Given the description of an element on the screen output the (x, y) to click on. 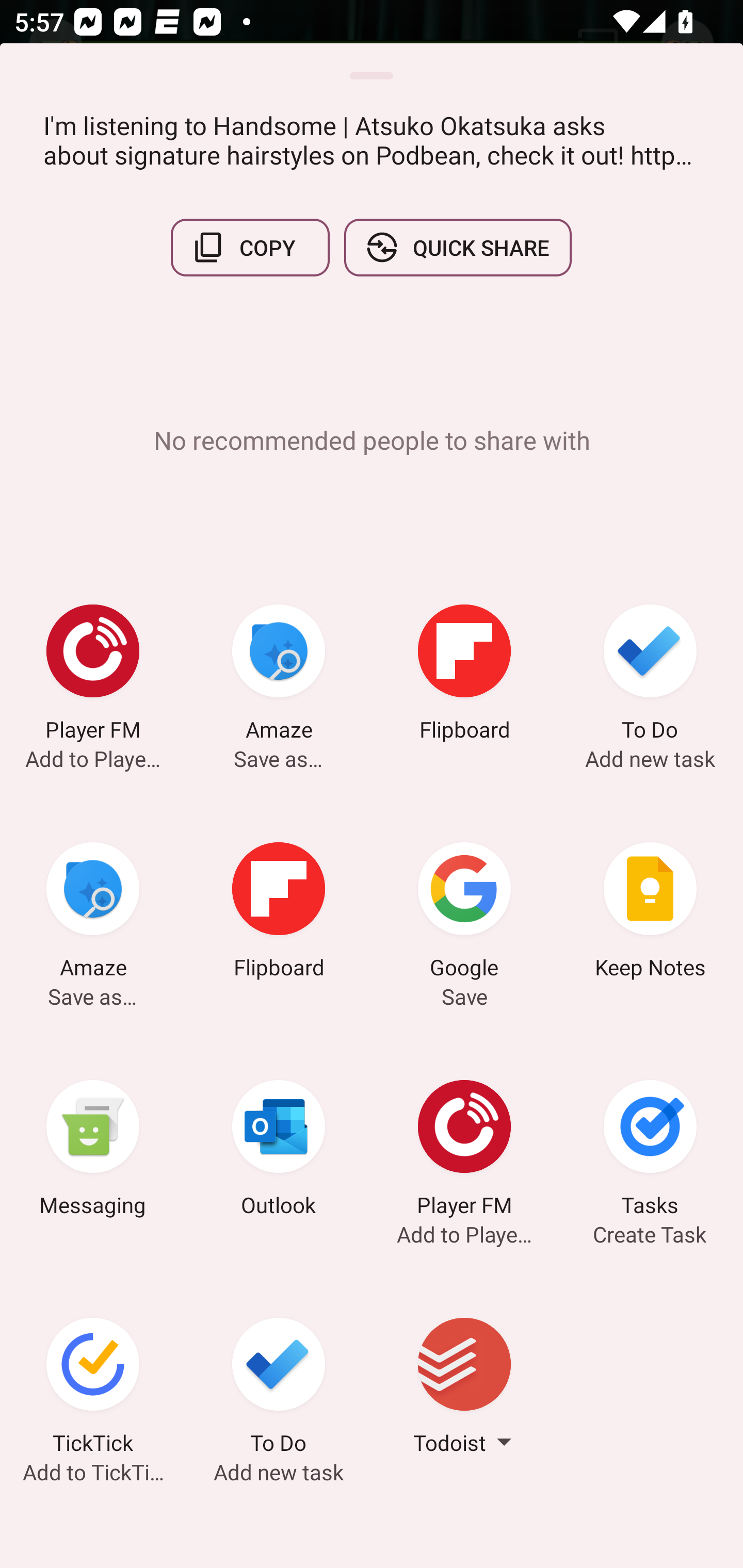
COPY (249, 247)
QUICK SHARE (457, 247)
Player FM Add to Player FM (92, 675)
Amaze Save as… (278, 675)
Flipboard (464, 675)
To Do Add new task (650, 675)
Amaze Save as… (92, 913)
Flipboard (278, 913)
Google Save (464, 913)
Keep Notes (650, 913)
Messaging (92, 1151)
Outlook (278, 1151)
Player FM Add to Player FM (464, 1151)
Tasks Create Task (650, 1151)
TickTick Add to TickTick (92, 1389)
To Do Add new task (278, 1389)
Todoist (464, 1389)
